Given the description of an element on the screen output the (x, y) to click on. 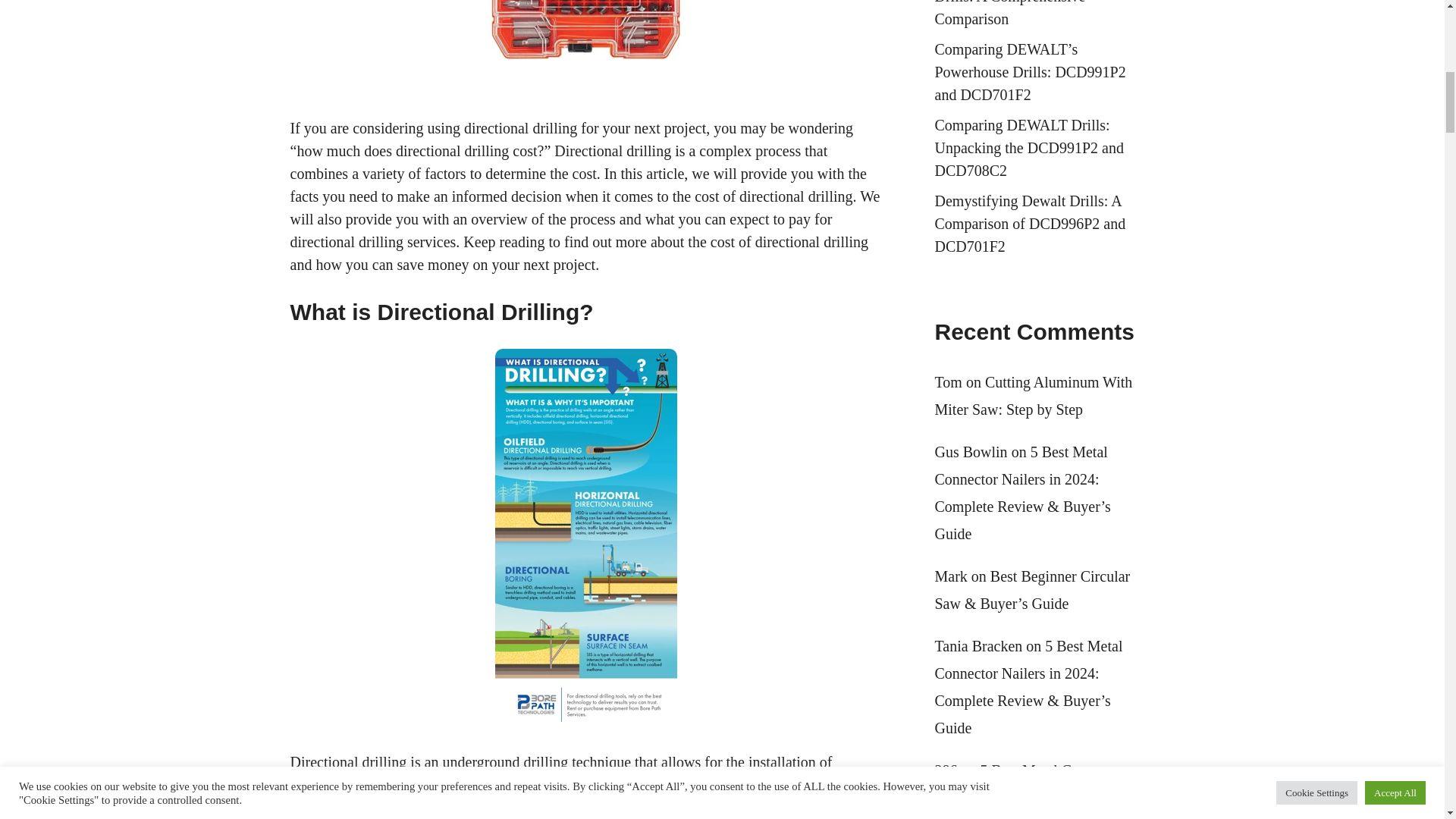
Scroll back to top (1406, 720)
